Given the description of an element on the screen output the (x, y) to click on. 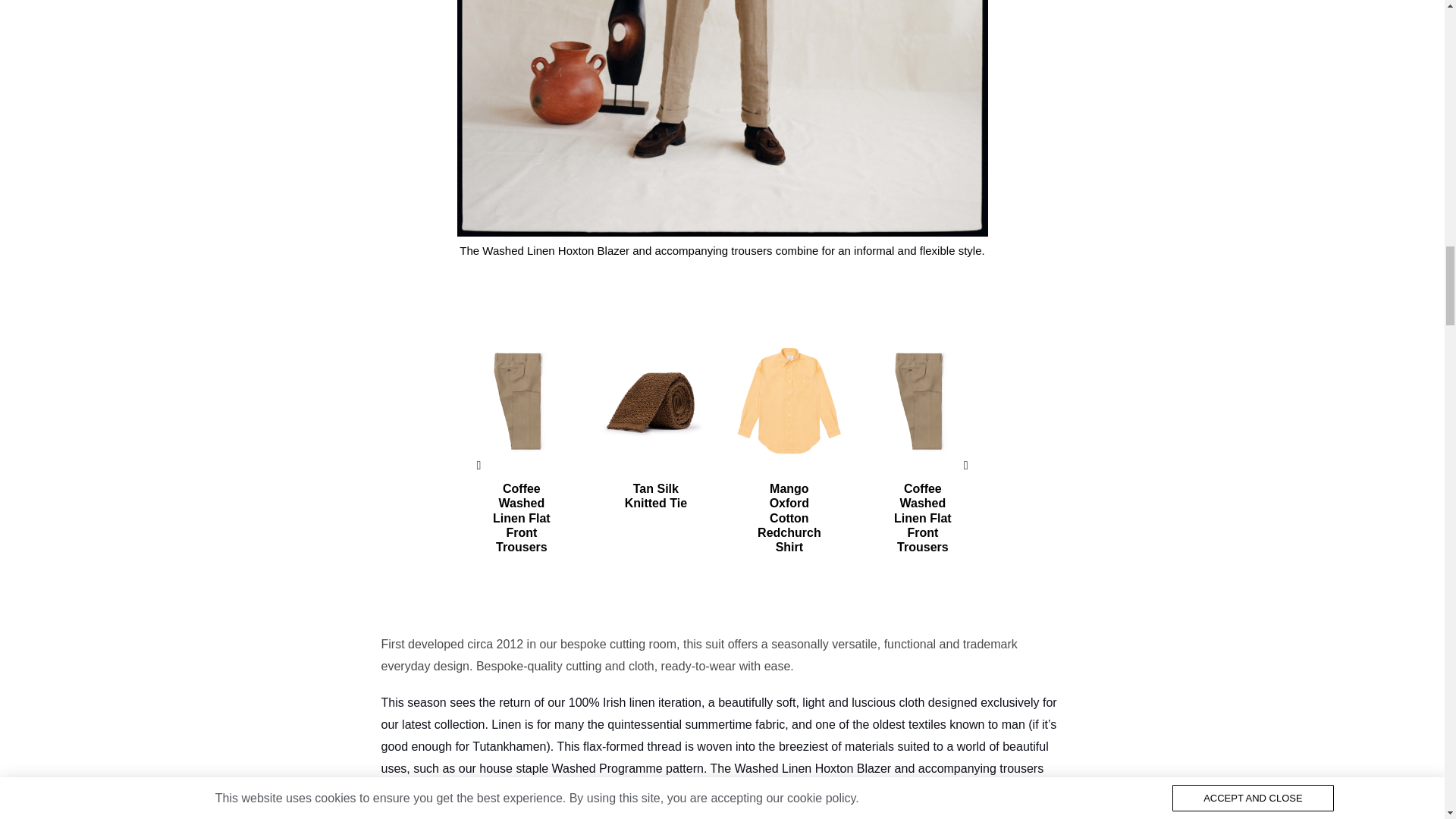
Coffee Washed Linen Flat Front Trousers (922, 517)
Tan Silk Knitted Tie (655, 495)
Mango Oxford Cotton Redchurch Shirt (789, 517)
Coffee Washed Linen Flat Front Trousers (521, 517)
